Given the description of an element on the screen output the (x, y) to click on. 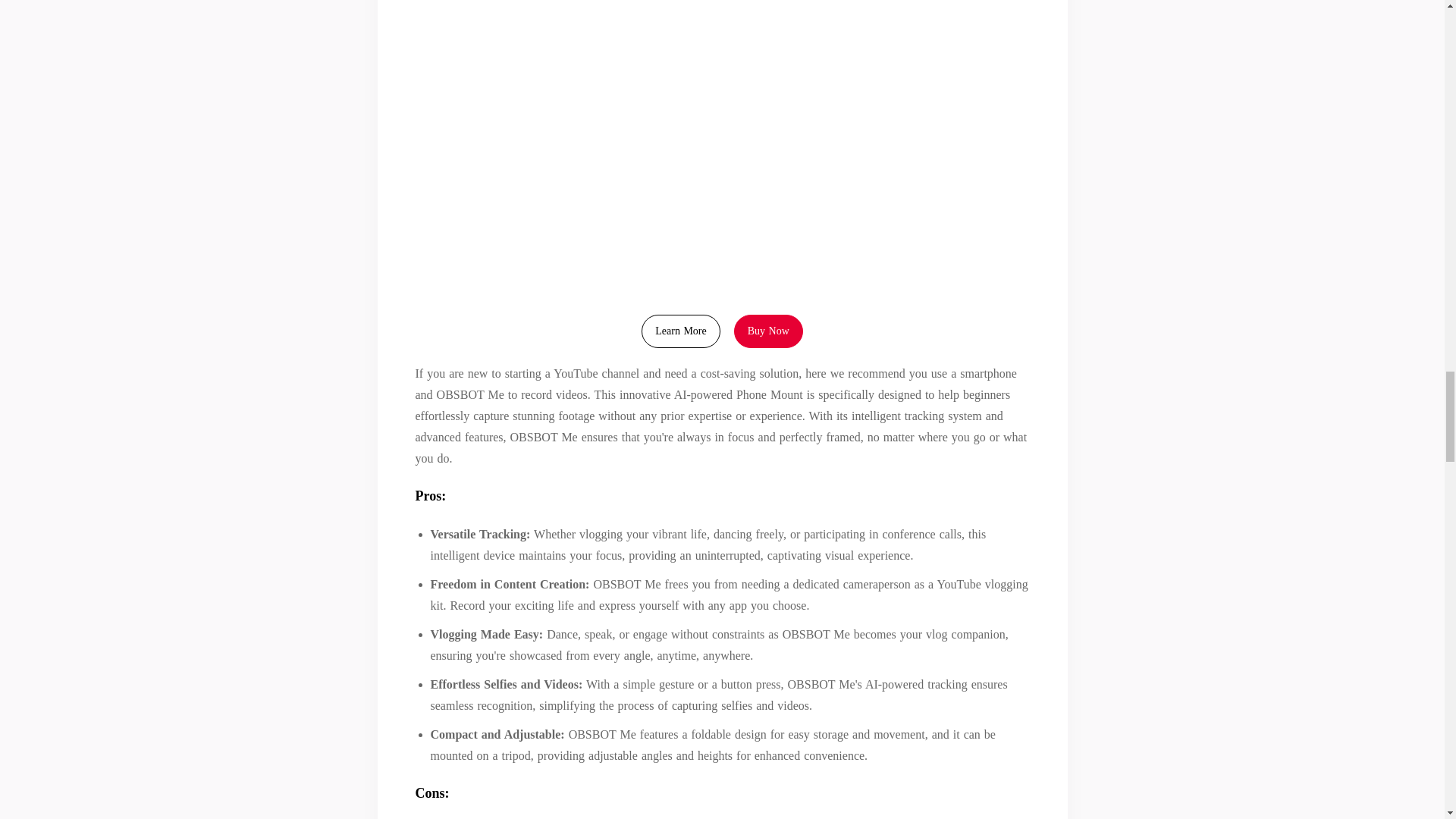
Learn More (680, 331)
Buy Now (768, 331)
